Given the description of an element on the screen output the (x, y) to click on. 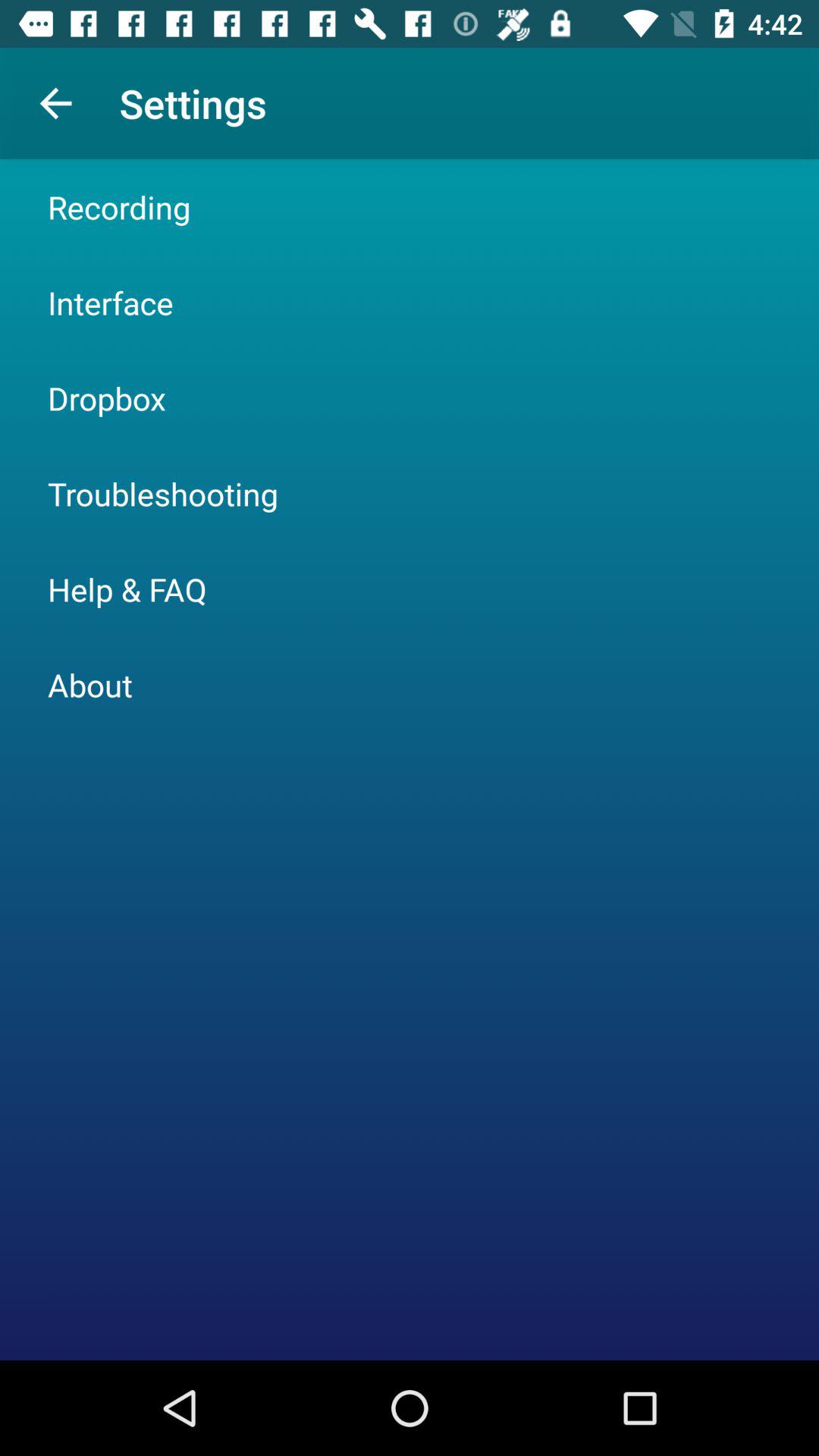
open the help & faq (127, 588)
